Given the description of an element on the screen output the (x, y) to click on. 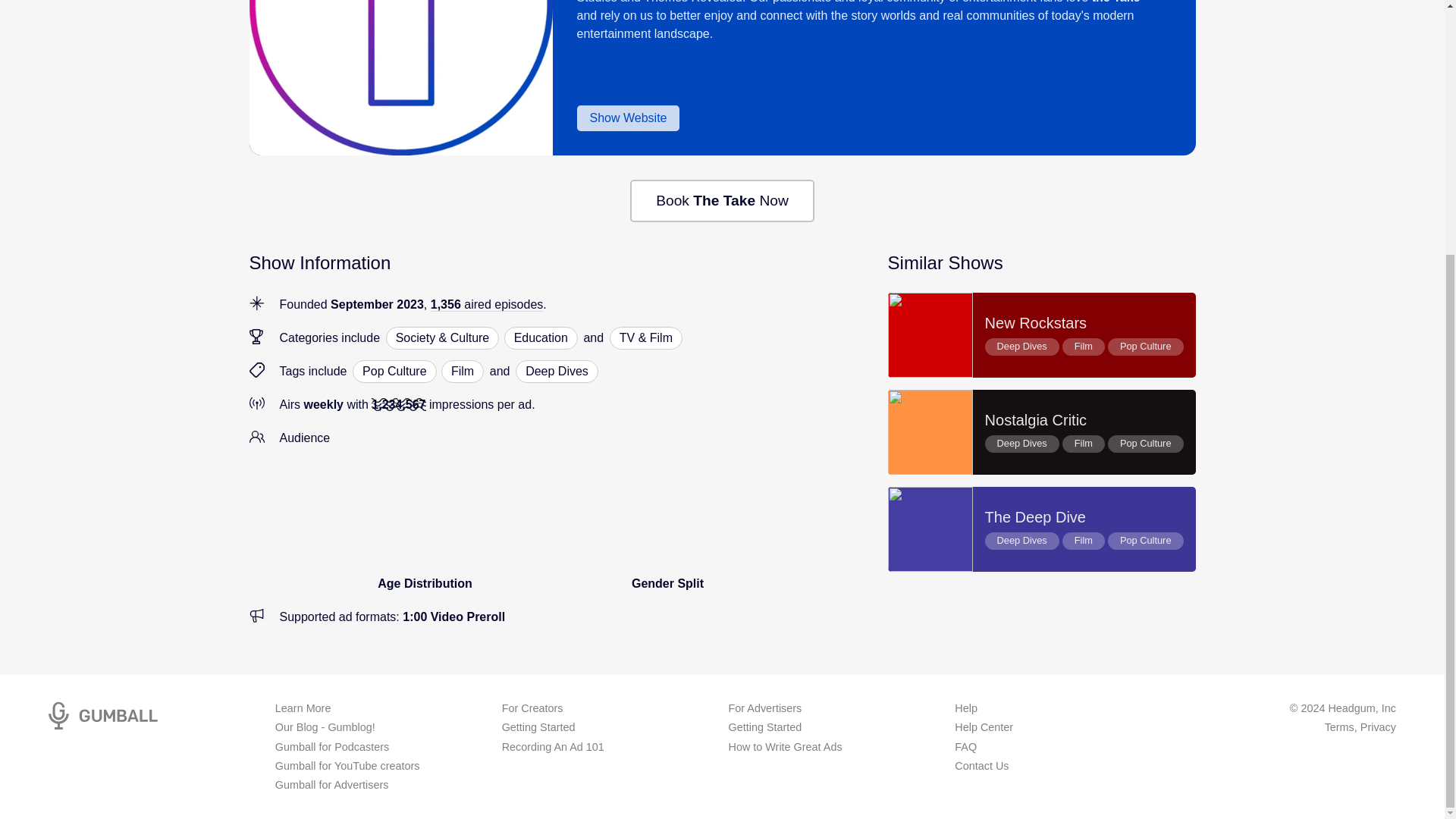
Book The Take Now (721, 200)
Gumball for YouTube creators (347, 766)
Deep Dives (556, 371)
Our Blog - Gumblog! (1041, 528)
Film (325, 727)
Gumball for Podcasters (462, 371)
Recording An Ad 101 (331, 747)
Contact Us (553, 747)
